Given the description of an element on the screen output the (x, y) to click on. 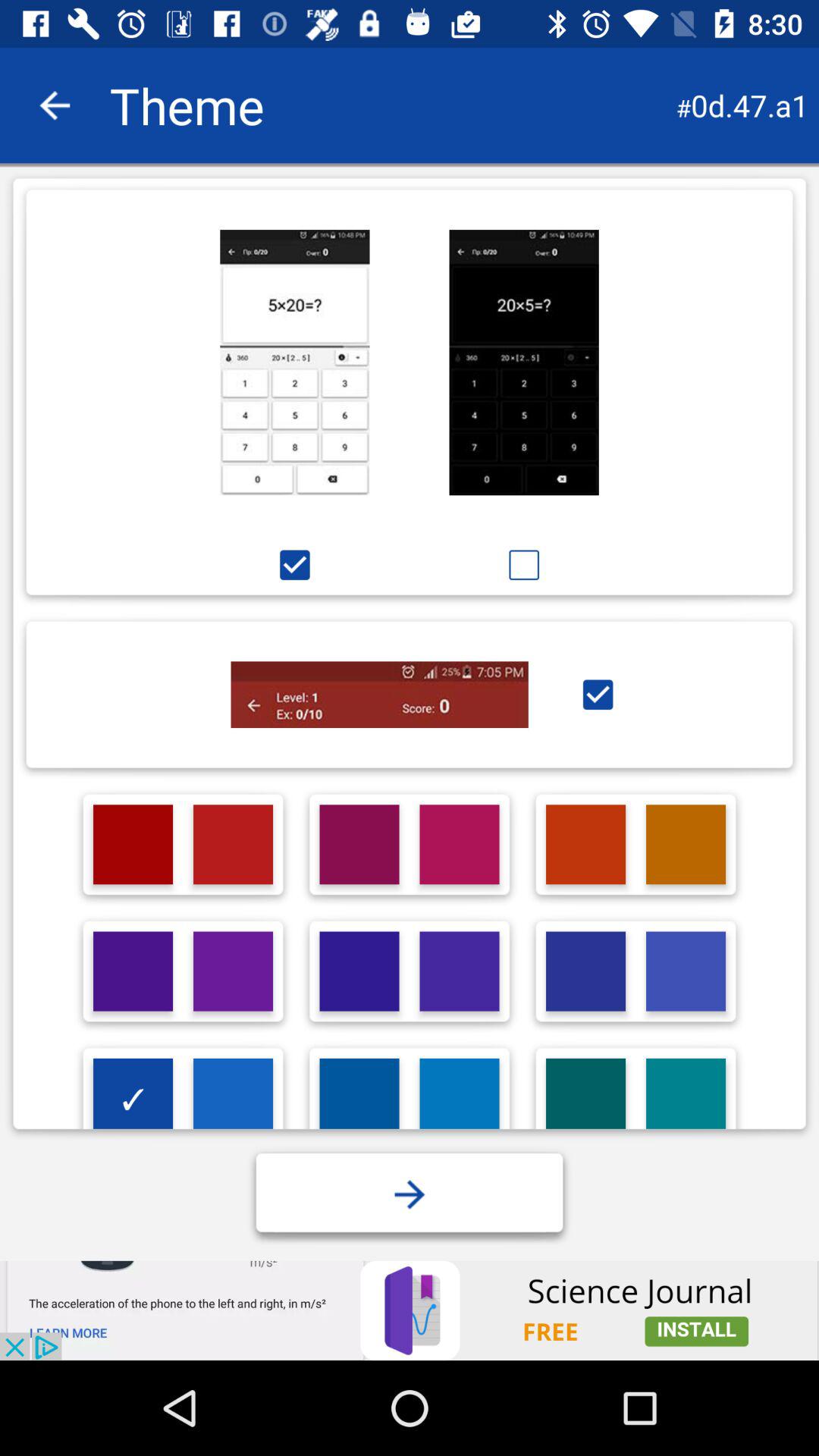
use style (597, 694)
